Given the description of an element on the screen output the (x, y) to click on. 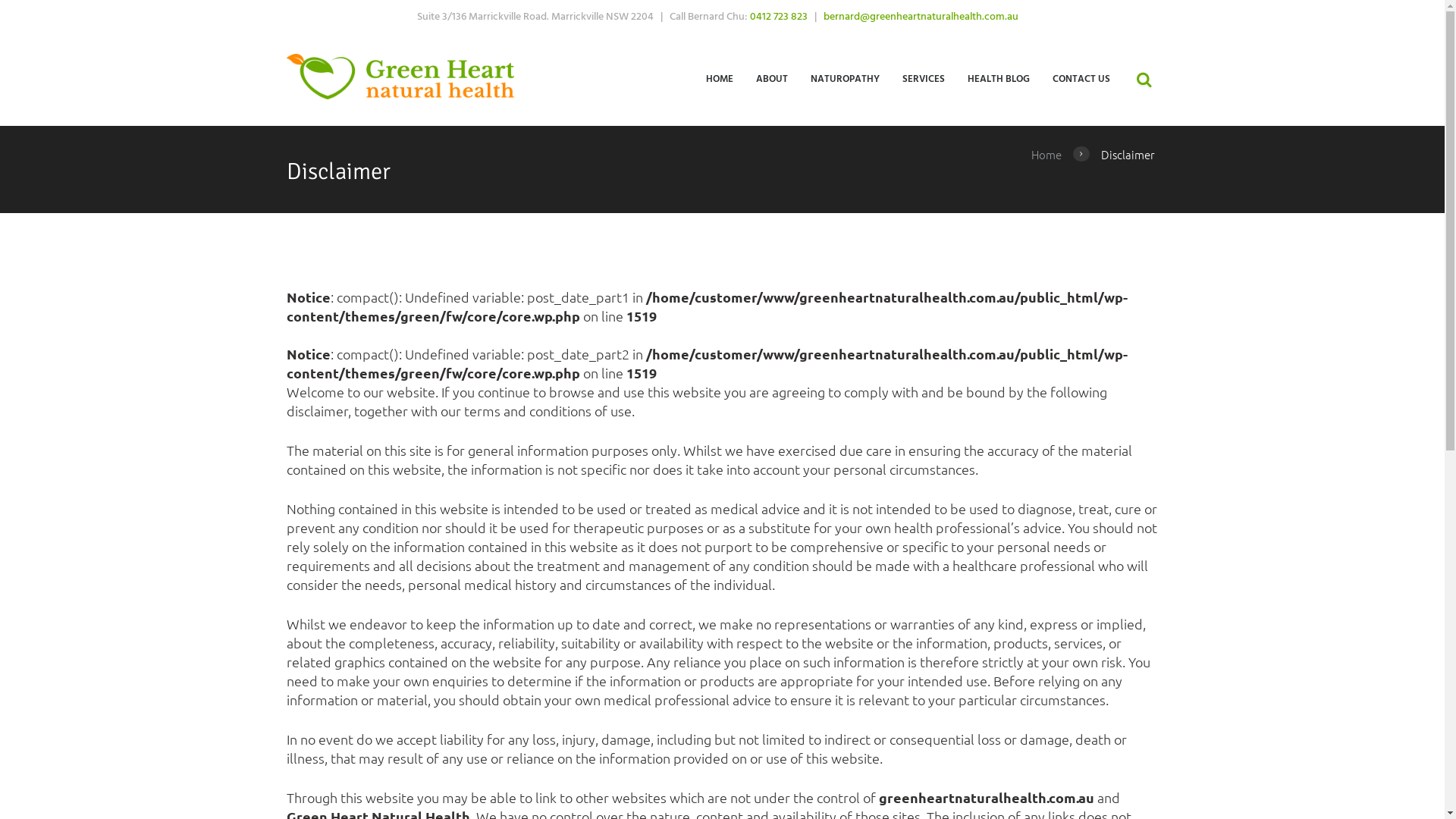
CONTACT US Element type: text (1081, 77)
0412 723 823 Element type: text (778, 16)
bernard@greenheartnaturalhealth.com.au Element type: text (920, 16)
HEALTH BLOG Element type: text (998, 77)
HOME Element type: text (719, 77)
SERVICES Element type: text (923, 77)
Open/close search form Element type: hover (1143, 74)
Home Element type: text (1045, 154)
BOOK APPOINTMENT Element type: text (721, 24)
ABOUT Element type: text (771, 77)
NATUROPATHY Element type: text (844, 77)
